Given the description of an element on the screen output the (x, y) to click on. 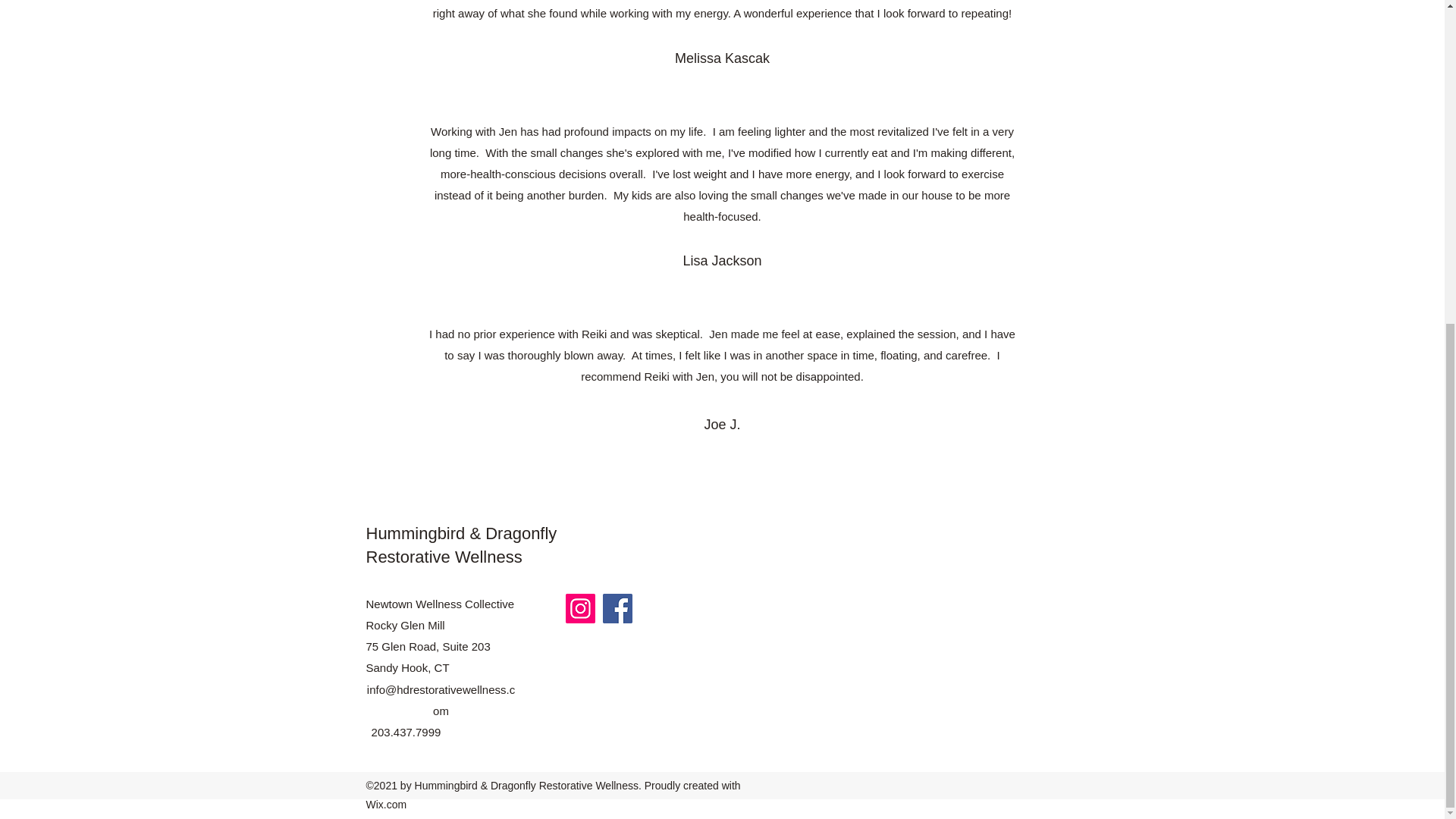
Restorative Wellness (443, 556)
